Given the description of an element on the screen output the (x, y) to click on. 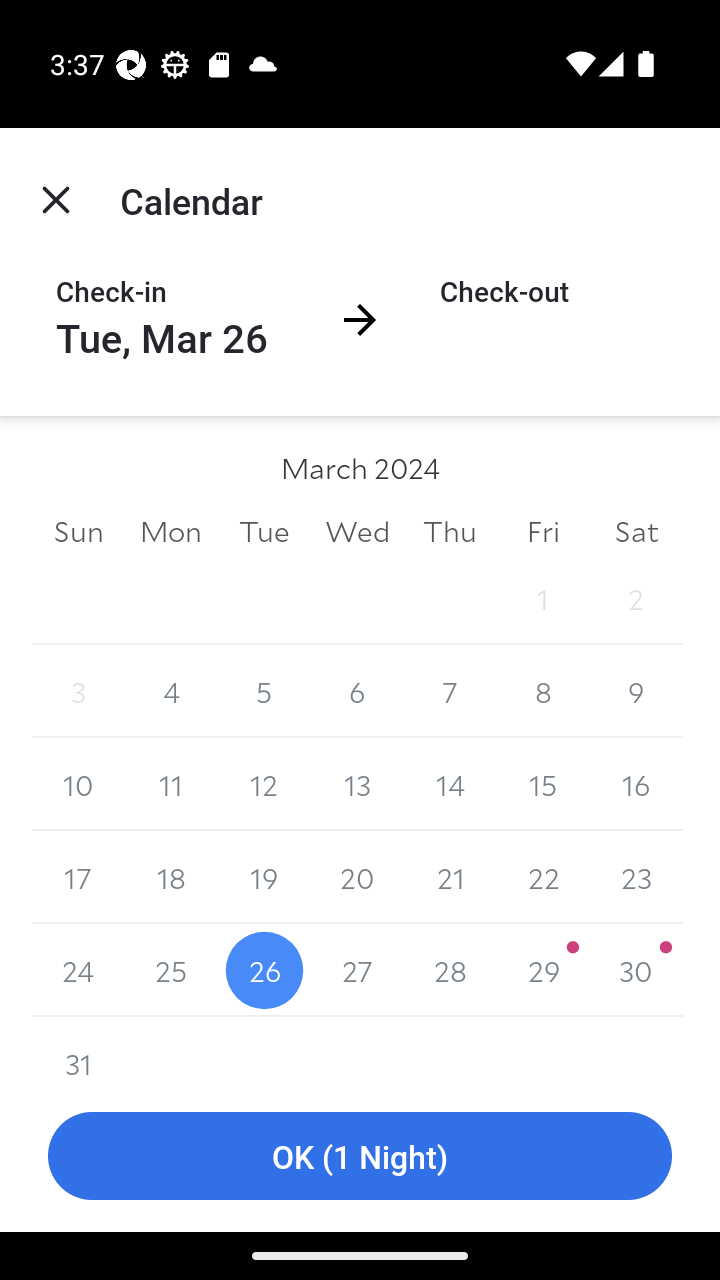
Sun (78, 530)
Mon (171, 530)
Tue (264, 530)
Wed (357, 530)
Thu (449, 530)
Fri (542, 530)
Sat (636, 530)
1 1 March 2024 (542, 598)
2 2 March 2024 (636, 598)
3 3 March 2024 (78, 691)
4 4 March 2024 (171, 691)
5 5 March 2024 (264, 691)
6 6 March 2024 (357, 691)
7 7 March 2024 (449, 691)
8 8 March 2024 (542, 691)
9 9 March 2024 (636, 691)
10 10 March 2024 (78, 784)
11 11 March 2024 (171, 784)
12 12 March 2024 (264, 784)
13 13 March 2024 (357, 784)
14 14 March 2024 (449, 784)
15 15 March 2024 (542, 784)
16 16 March 2024 (636, 784)
17 17 March 2024 (78, 877)
18 18 March 2024 (171, 877)
19 19 March 2024 (264, 877)
20 20 March 2024 (357, 877)
21 21 March 2024 (449, 877)
22 22 March 2024 (542, 877)
23 23 March 2024 (636, 877)
24 24 March 2024 (78, 970)
25 25 March 2024 (171, 970)
26 26 March 2024 (264, 970)
27 27 March 2024 (357, 970)
28 28 March 2024 (449, 970)
29 29 March 2024 (542, 970)
30 30 March 2024 (636, 970)
31 31 March 2024 (78, 1048)
OK (1 Night) (359, 1156)
